Given the description of an element on the screen output the (x, y) to click on. 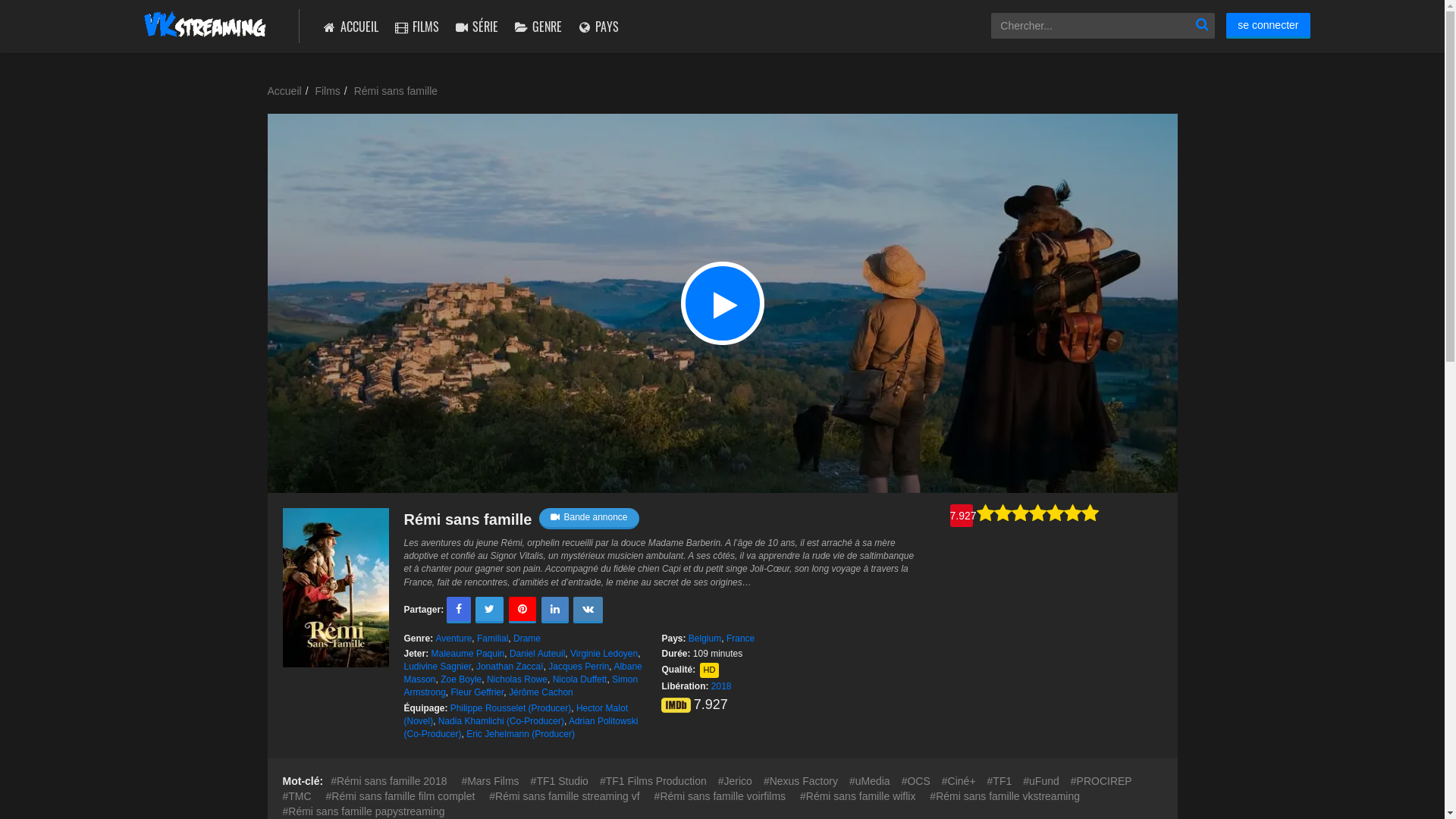
Mars Films Element type: text (489, 781)
Jacques Perrin Element type: text (578, 666)
OCS Element type: text (915, 781)
Maleaume Paquin Element type: text (468, 653)
Familial Element type: text (492, 638)
ACCUEIL Element type: text (350, 26)
Facebook Element type: hover (458, 608)
Virginie Ledoyen Element type: text (603, 653)
Drame Element type: text (526, 638)
Bande annonce Element type: text (588, 518)
Philippe Rousselet (Producer) Element type: text (510, 707)
Aventure Element type: text (454, 638)
TF1 Films Production Element type: text (652, 781)
Pinterest Element type: hover (522, 608)
TF1 Studio Element type: text (559, 781)
Adrian Politowski (Co-Producer) Element type: text (520, 727)
uMedia Element type: text (869, 781)
Ludivine Sagnier Element type: text (436, 666)
Fleur Geffrier Element type: text (477, 692)
Chercher Element type: hover (1201, 25)
Zoe Boyle Element type: text (460, 679)
TMC Element type: text (296, 796)
PROCIREP Element type: text (1101, 781)
Daniel Auteuil Element type: text (536, 653)
uFund Element type: text (1040, 781)
Nexus Factory Element type: text (800, 781)
France Element type: text (740, 638)
Eric Jehelmann (Producer) Element type: text (520, 733)
2018 Element type: text (721, 685)
GENRE Element type: text (537, 26)
Twitter Element type: hover (489, 608)
Nicola Duffett Element type: text (579, 679)
Simon Armstrong Element type: text (520, 685)
VK Element type: hover (587, 608)
Nadia Khamlichi (Co-Producer) Element type: text (501, 720)
TF1 Element type: text (999, 781)
LinkedIn Element type: hover (554, 608)
Albane Masson Element type: text (522, 672)
Jerico Element type: text (735, 781)
Nicholas Rowe Element type: text (516, 679)
Belgium Element type: text (704, 638)
FILMS Element type: text (415, 26)
PAYS Element type: text (598, 26)
Hector Malot (Novel) Element type: text (515, 714)
Accueil Element type: text (283, 90)
se connecter Element type: text (1267, 25)
Films Element type: text (326, 90)
